Given the description of an element on the screen output the (x, y) to click on. 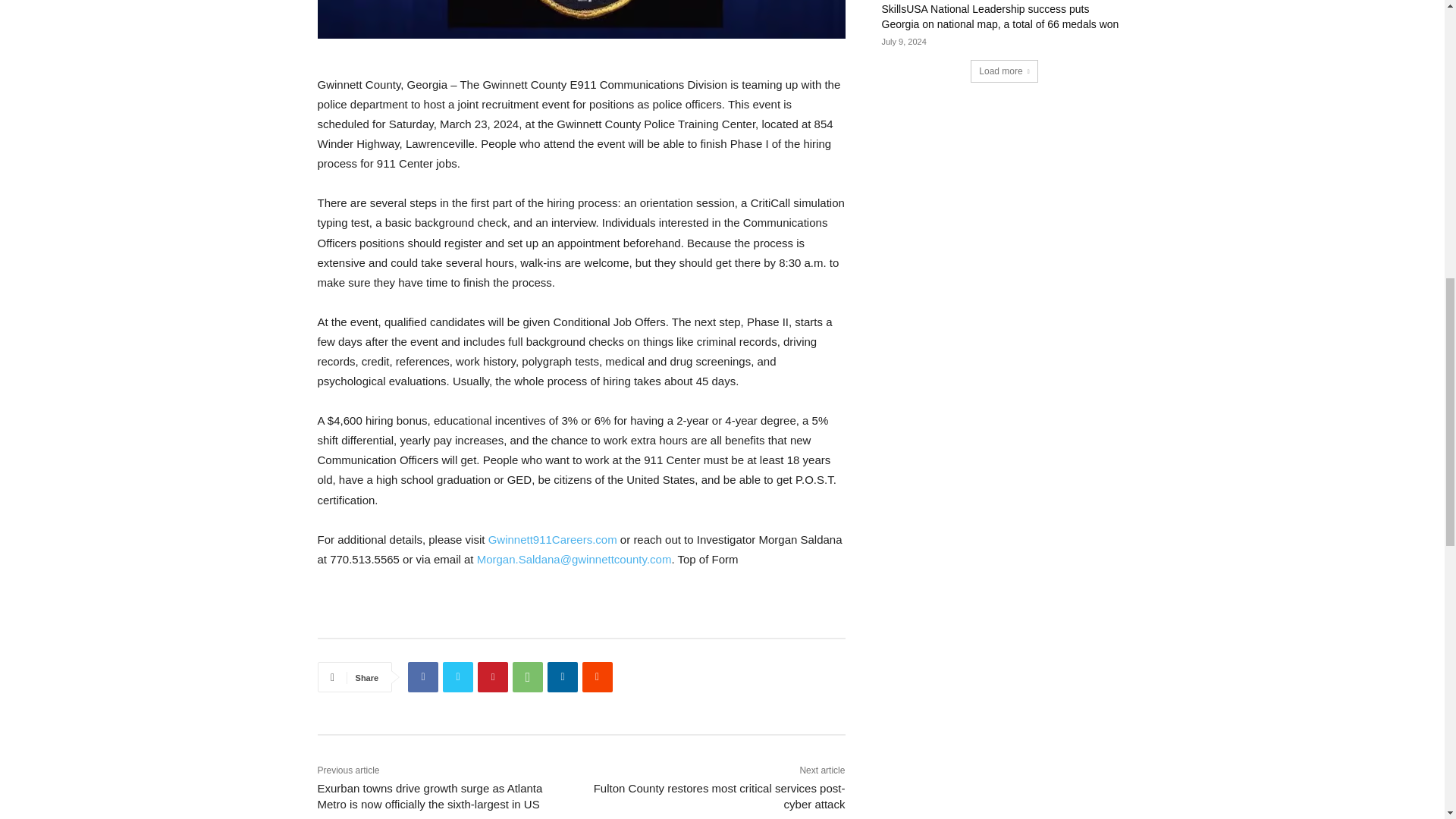
Facebook (422, 676)
Gwinnett911Careers.com (552, 539)
